Given the description of an element on the screen output the (x, y) to click on. 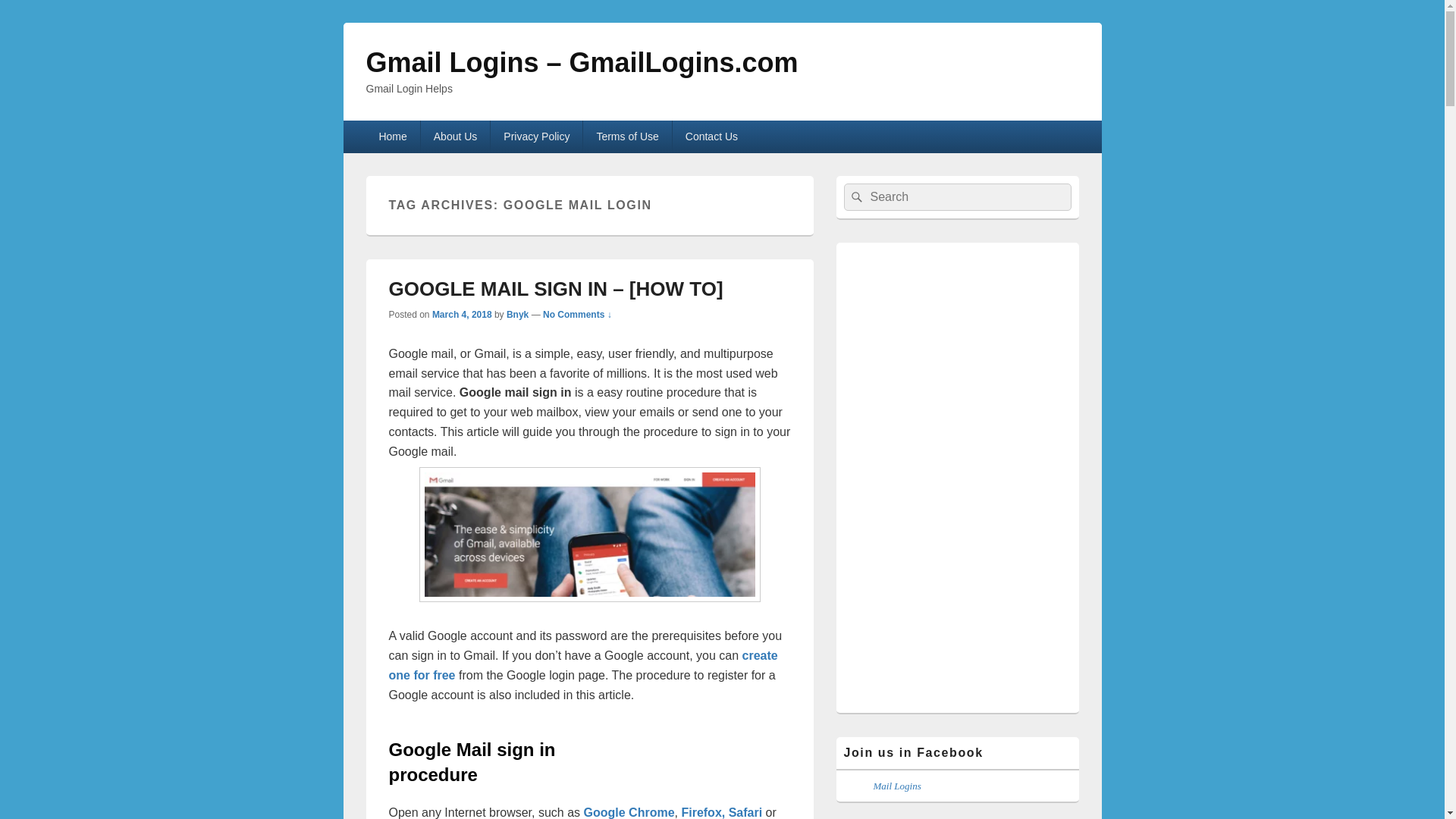
Safari (745, 812)
Privacy Policy (536, 136)
Home (392, 136)
Search for: (956, 196)
create one for free (582, 665)
Terms of Use (627, 136)
Google Chrome (629, 812)
Contact Us (711, 136)
View all posts by Bnyk (517, 314)
About Us (455, 136)
